Given the description of an element on the screen output the (x, y) to click on. 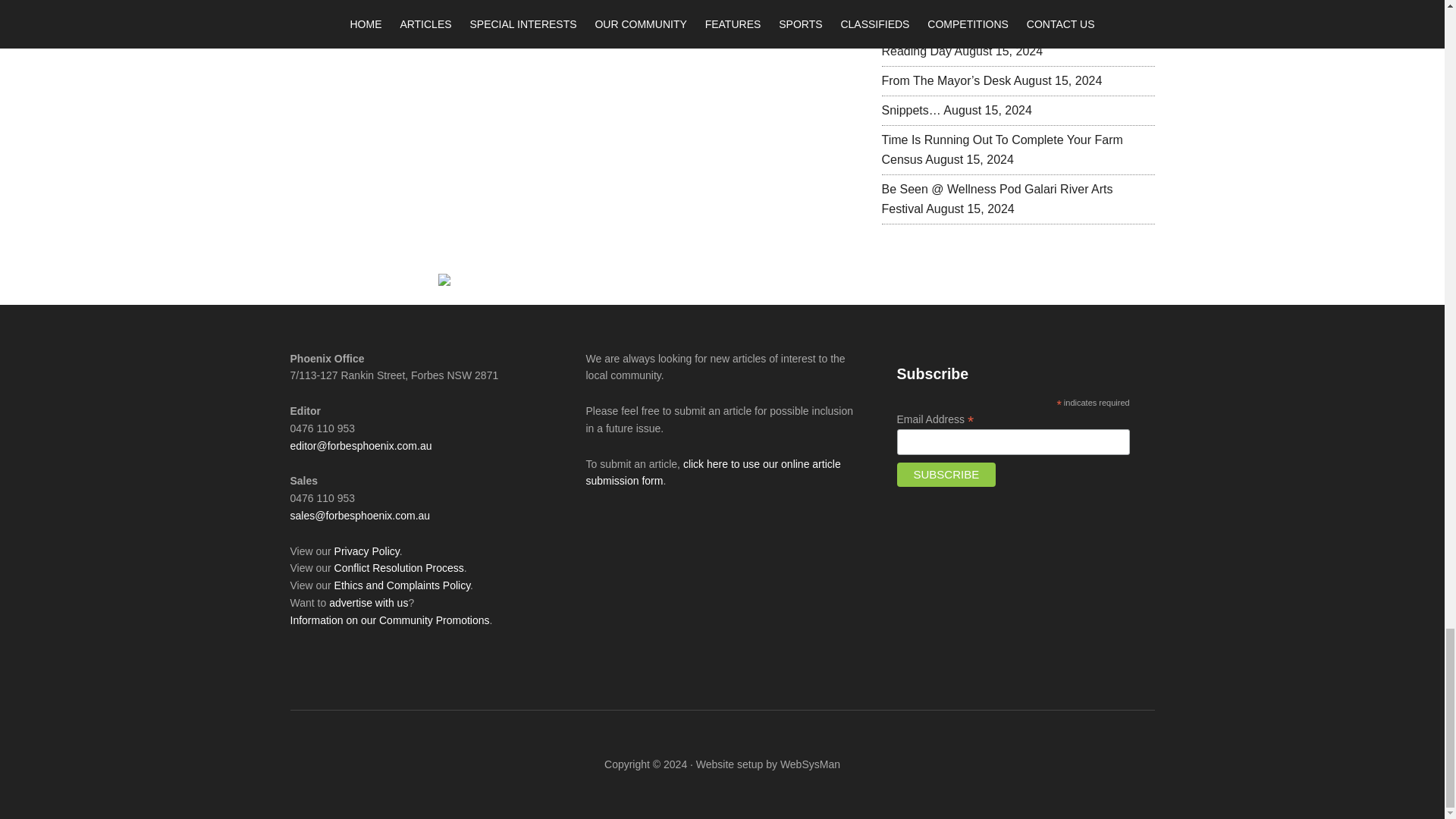
Subscribe (945, 474)
Advertise with Us (368, 603)
Ethics and Complaints Policy (402, 585)
Privacy Policy (366, 551)
Submit an Article (712, 472)
Conflict Resolution Process (399, 567)
